Given the description of an element on the screen output the (x, y) to click on. 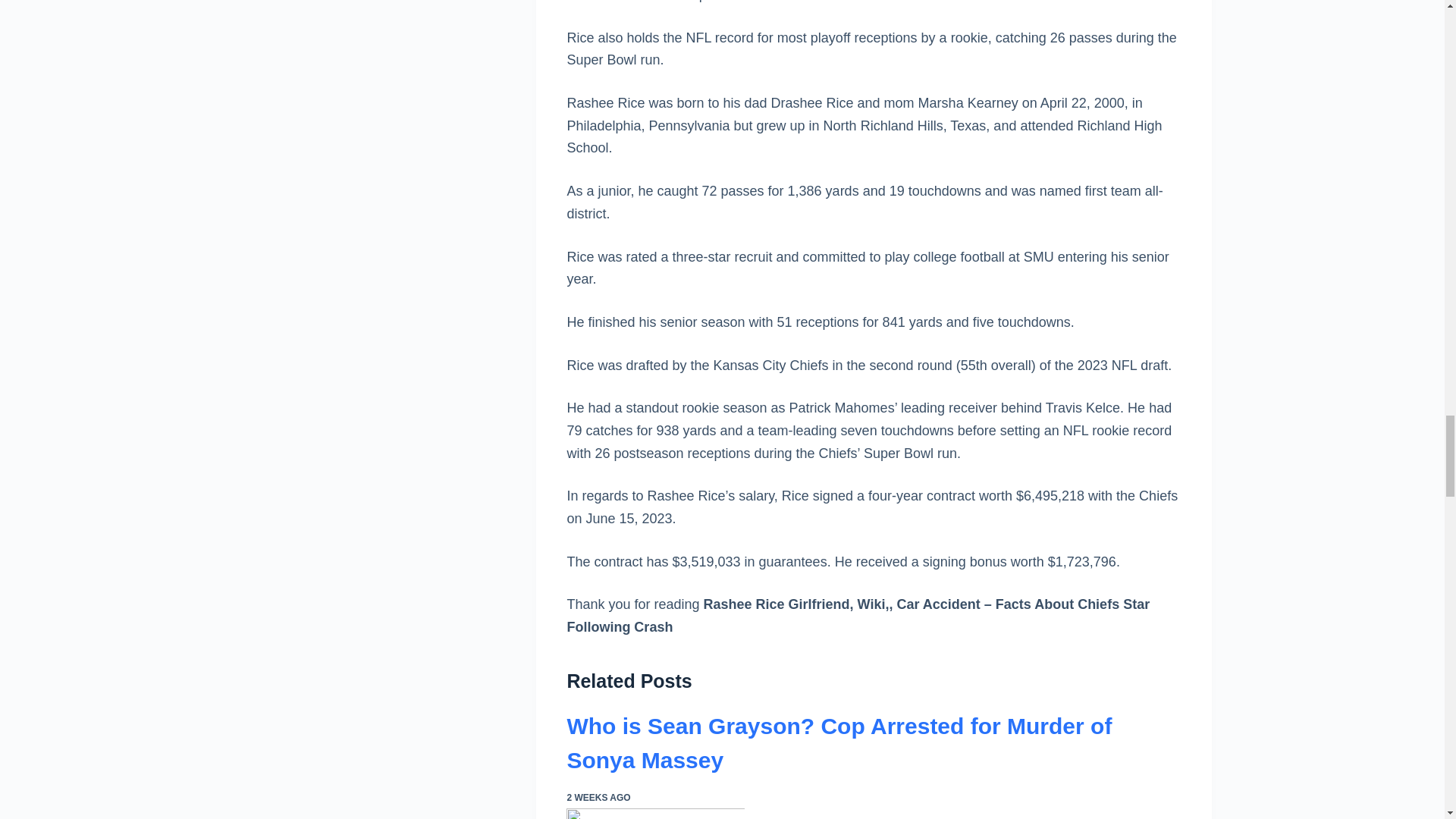
Who is Sean Grayson? Cop Arrested for Murder of Sonya Massey (839, 743)
